Given the description of an element on the screen output the (x, y) to click on. 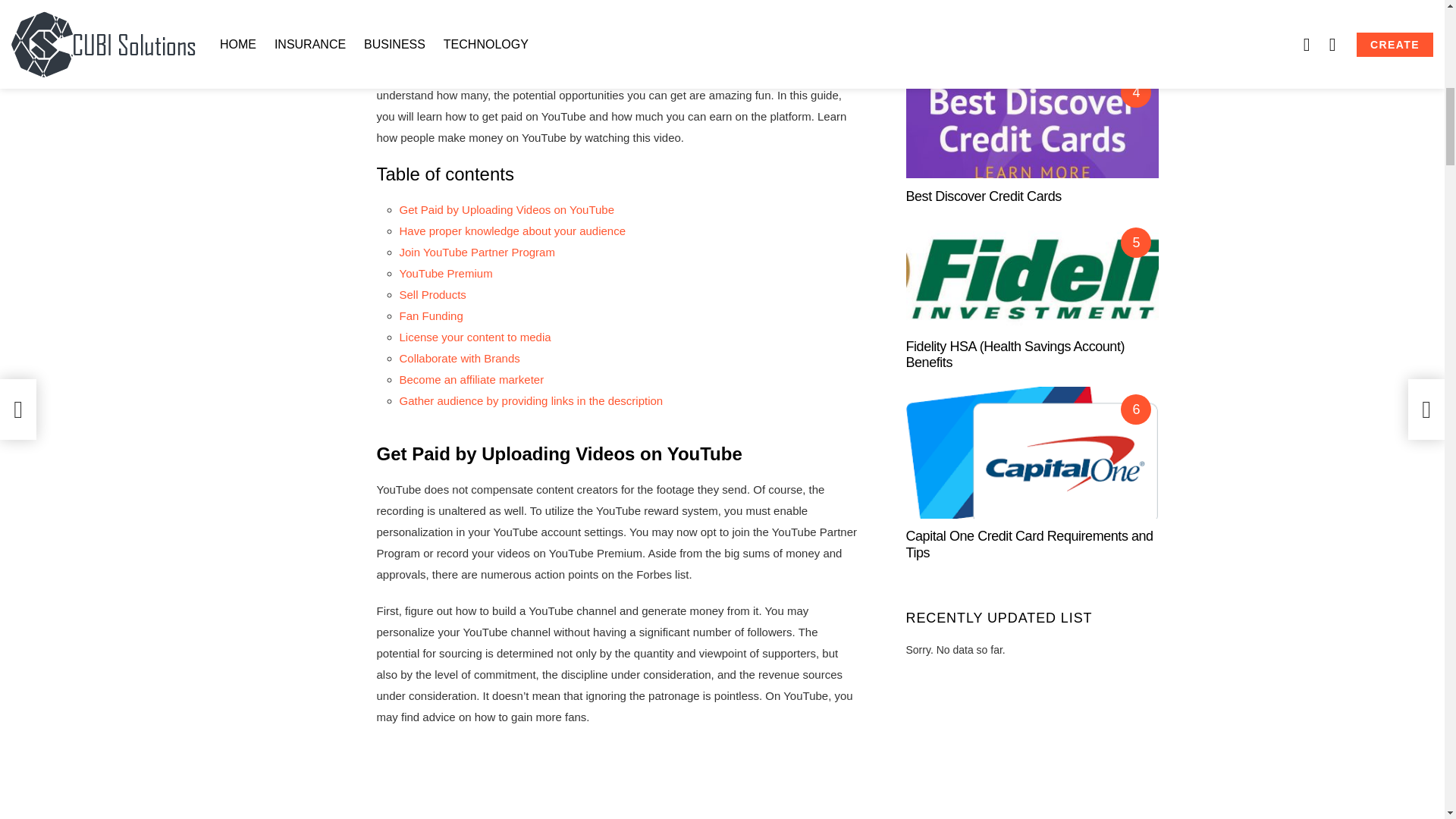
YouTube Premium (445, 273)
Collaborate with Brands (458, 358)
Become an affiliate marketer (470, 379)
Join YouTube Partner Program (476, 251)
Have proper knowledge about your audience (512, 230)
License your content to media (474, 336)
Fan Funding (430, 315)
Gather audience by providing links in the description (530, 400)
Get Paid by Uploading Videos on YouTube (506, 209)
Sell Products (431, 294)
